Given the description of an element on the screen output the (x, y) to click on. 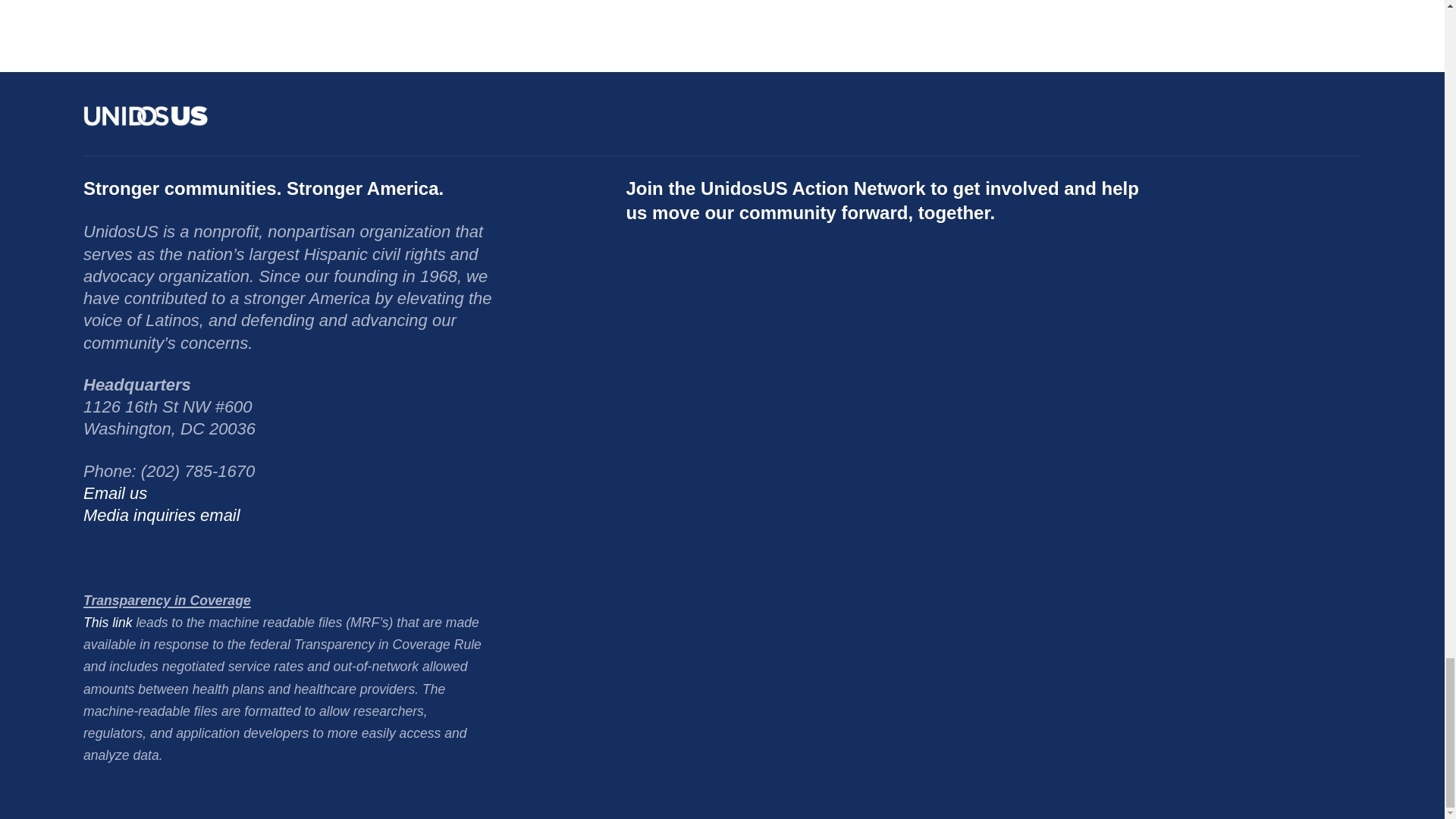
Email us (114, 493)
Media inquiries email (161, 515)
This link (107, 622)
